Given the description of an element on the screen output the (x, y) to click on. 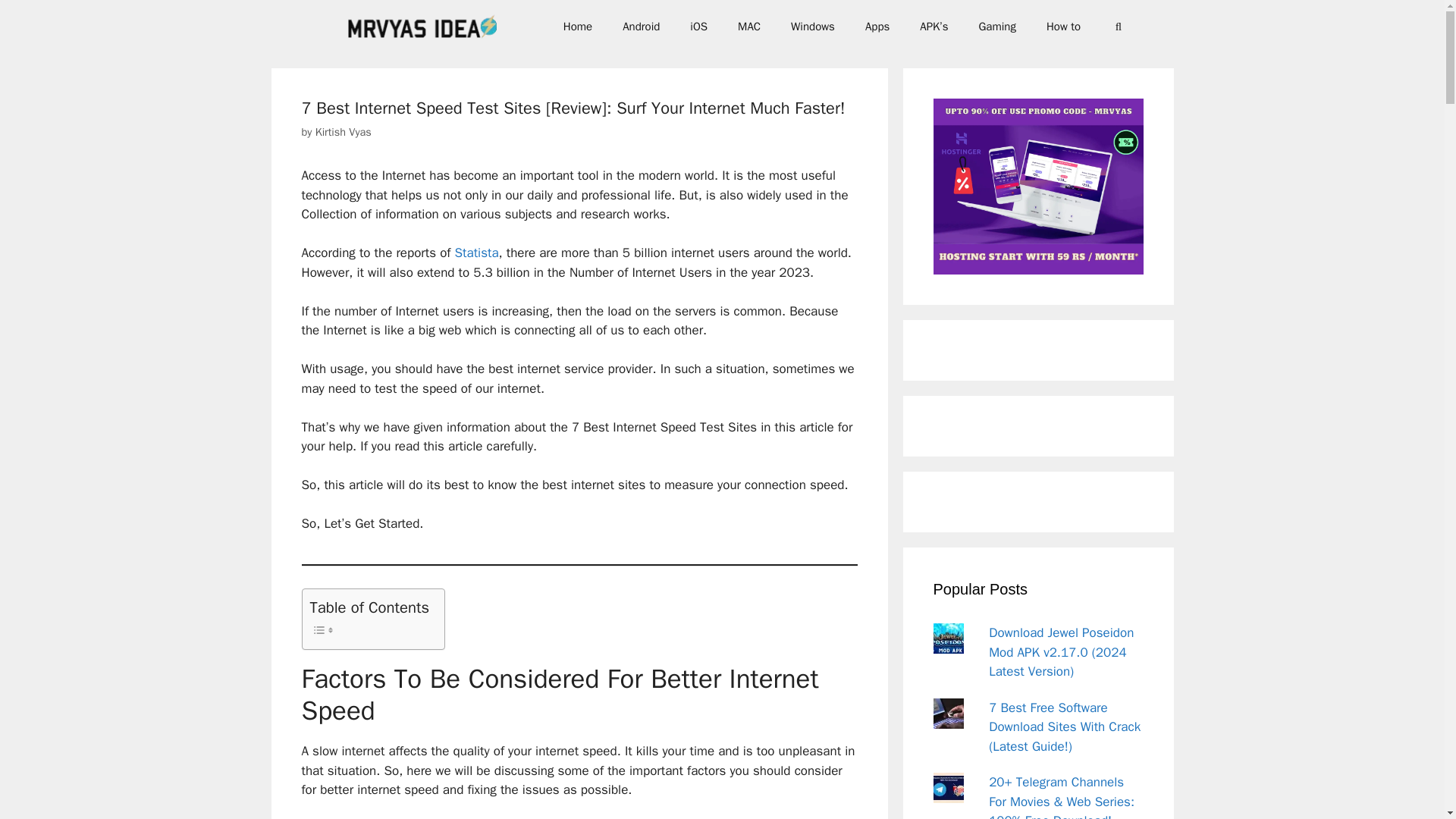
Mrvyas Idea (425, 26)
Windows (813, 26)
Statista (476, 252)
Apps (877, 26)
Home (577, 26)
View all posts by Kirtish Vyas (343, 131)
iOS (698, 26)
MAC (749, 26)
Gaming (996, 26)
How to (1063, 26)
Mrvyas Idea (421, 26)
Android (641, 26)
Kirtish Vyas (343, 131)
